Given the description of an element on the screen output the (x, y) to click on. 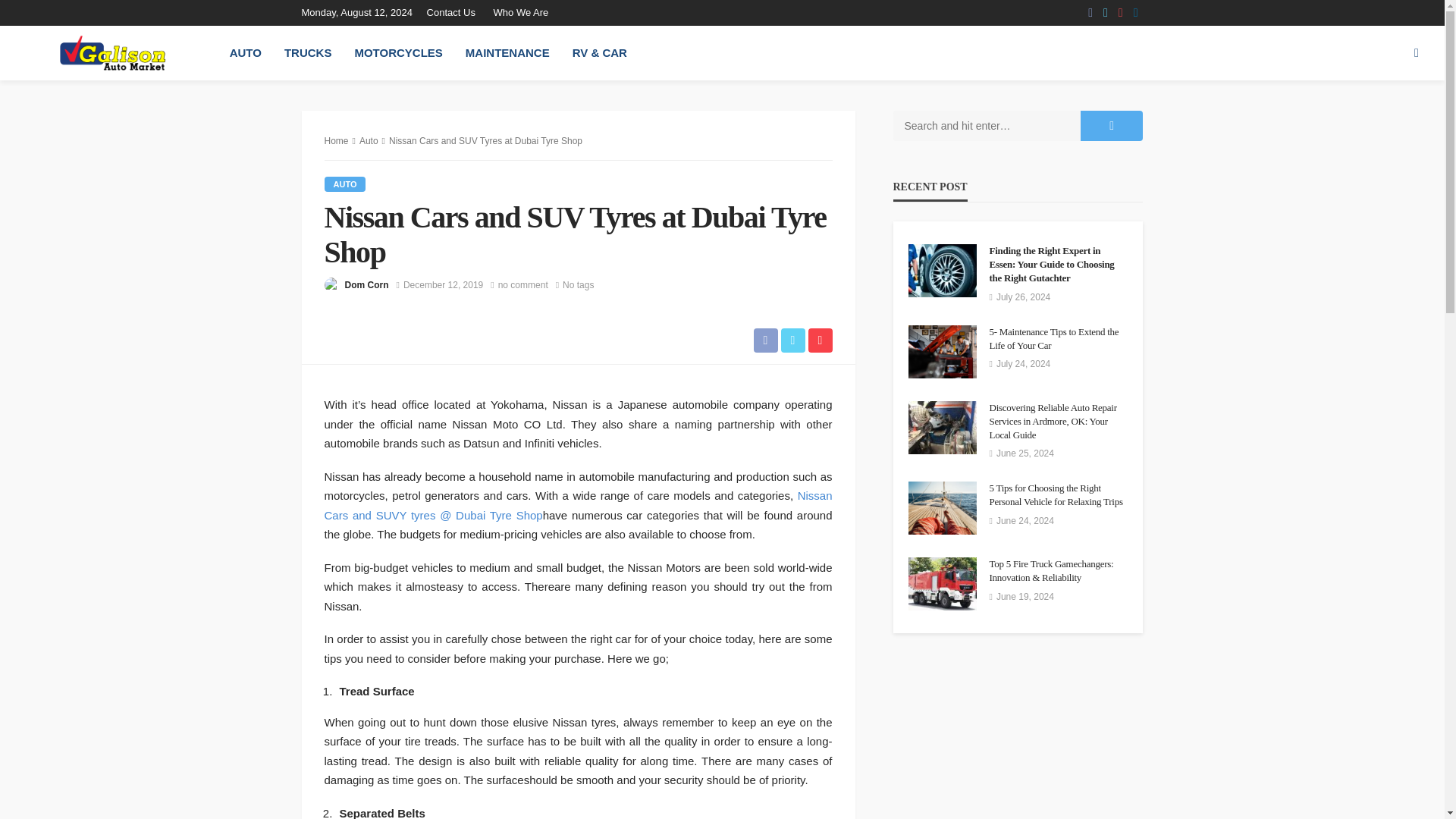
5- Maintenance Tips to Extend the Life of Your Car (942, 351)
AUTO (345, 183)
AUTO (245, 52)
Search for: (986, 125)
Contact Us (454, 12)
5- Maintenance Tips to Extend the Life of Your Car (1057, 338)
5- Maintenance Tips to Extend the Life of Your Car (1057, 338)
